Given the description of an element on the screen output the (x, y) to click on. 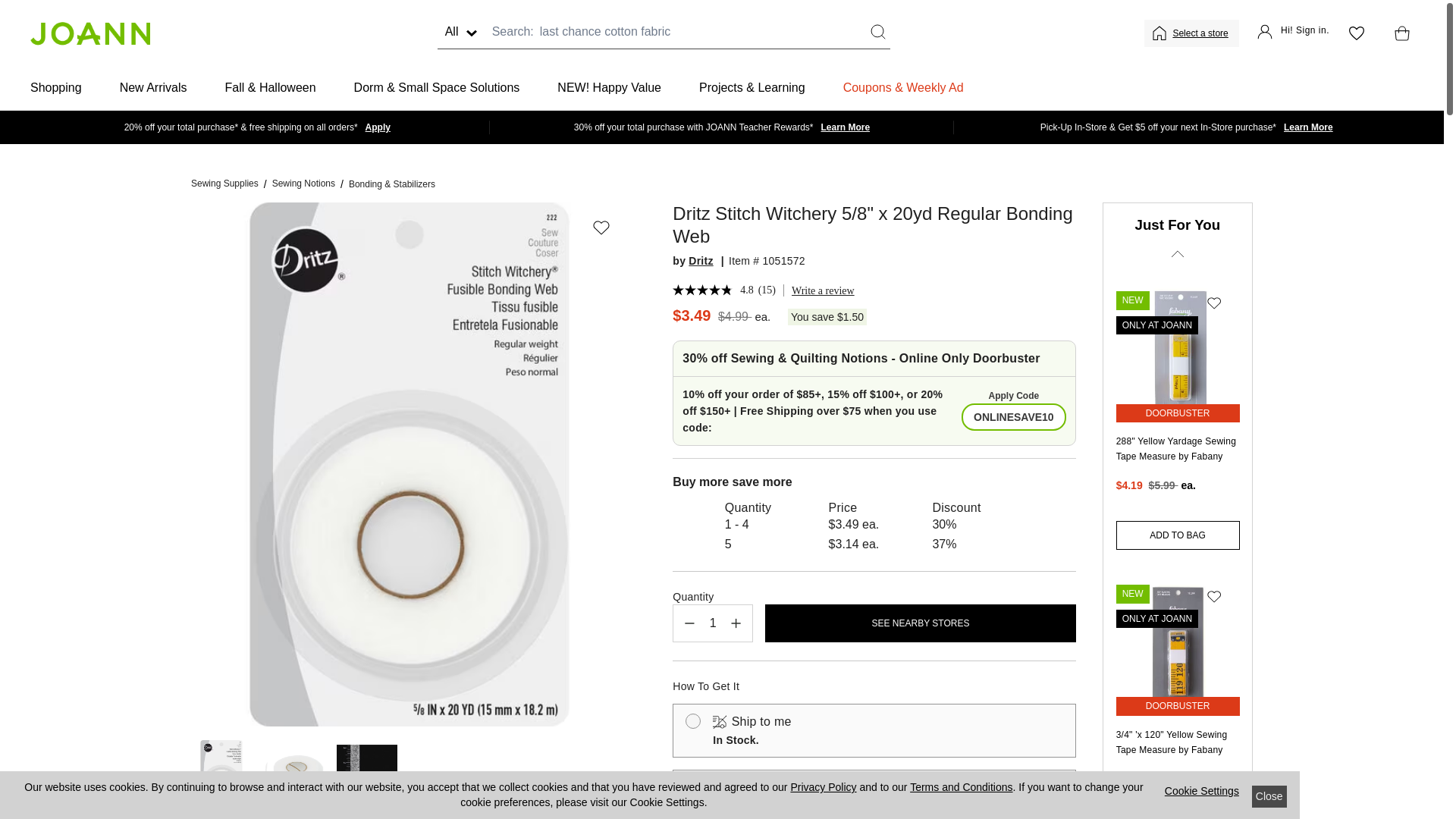
1 (712, 623)
JO-ANN STORES, LLC Home (89, 33)
View Cart (1398, 33)
Sewing Notions (303, 183)
Hi! Sign in. (1293, 33)
Select a store (1201, 32)
Favorites (1356, 33)
Hi! Sign in. (1293, 33)
Sewing Supplies (224, 183)
Shopping (55, 87)
